Given the description of an element on the screen output the (x, y) to click on. 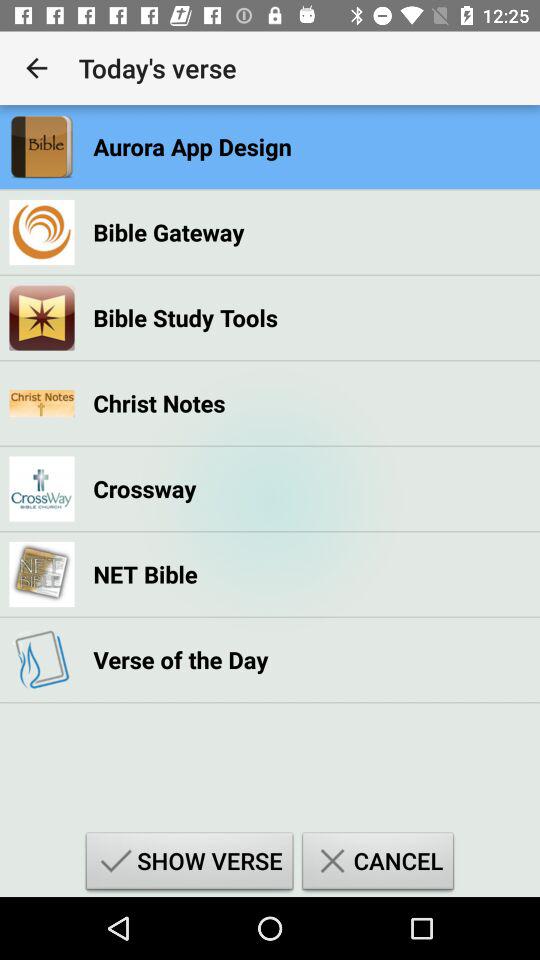
flip until the cancel icon (377, 863)
